Given the description of an element on the screen output the (x, y) to click on. 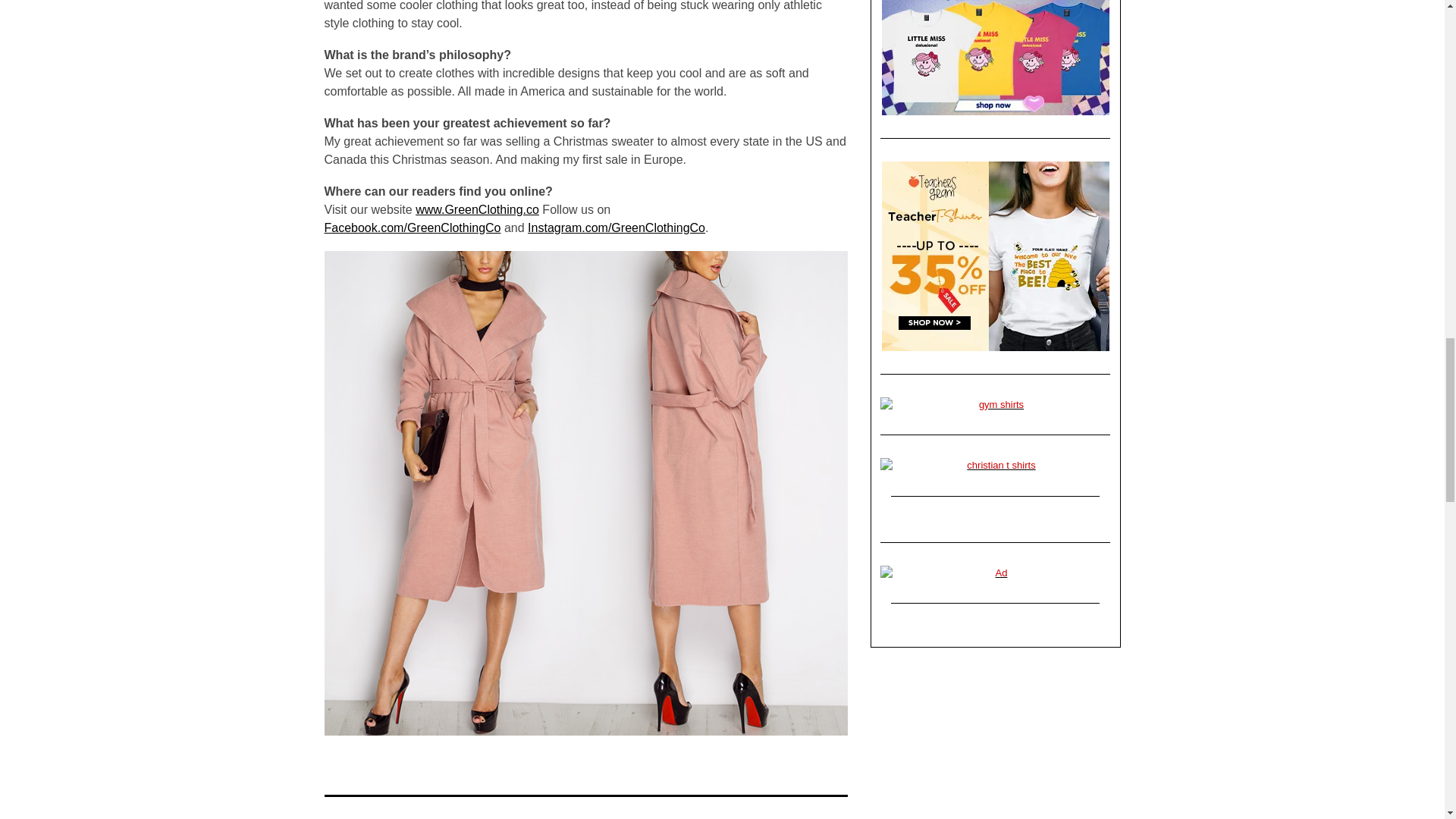
christian t shirts (994, 465)
baby tees (994, 57)
gym shirts (994, 404)
teacher shirt (994, 256)
